Given the description of an element on the screen output the (x, y) to click on. 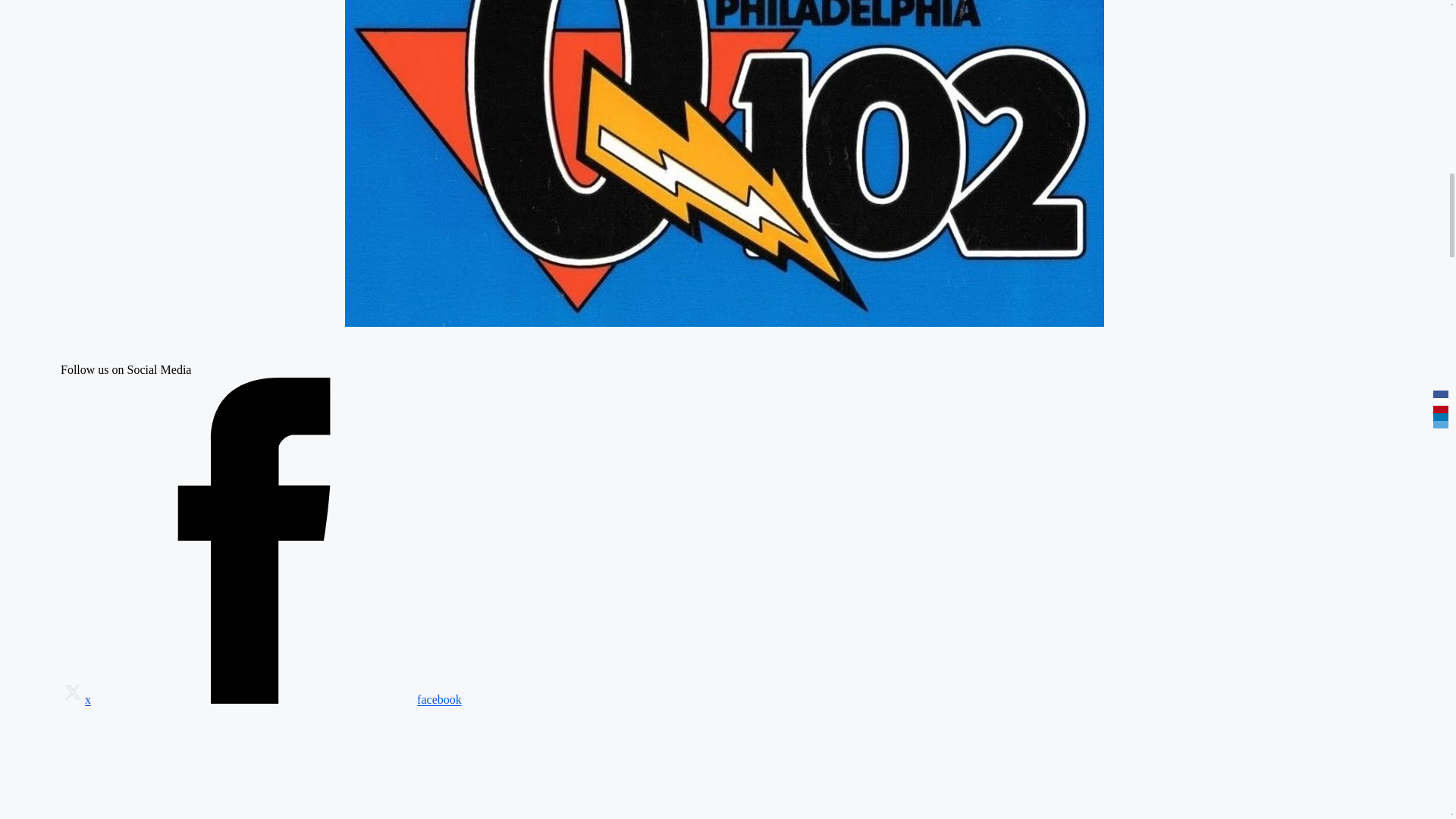
x (75, 698)
facebook (275, 698)
